Given the description of an element on the screen output the (x, y) to click on. 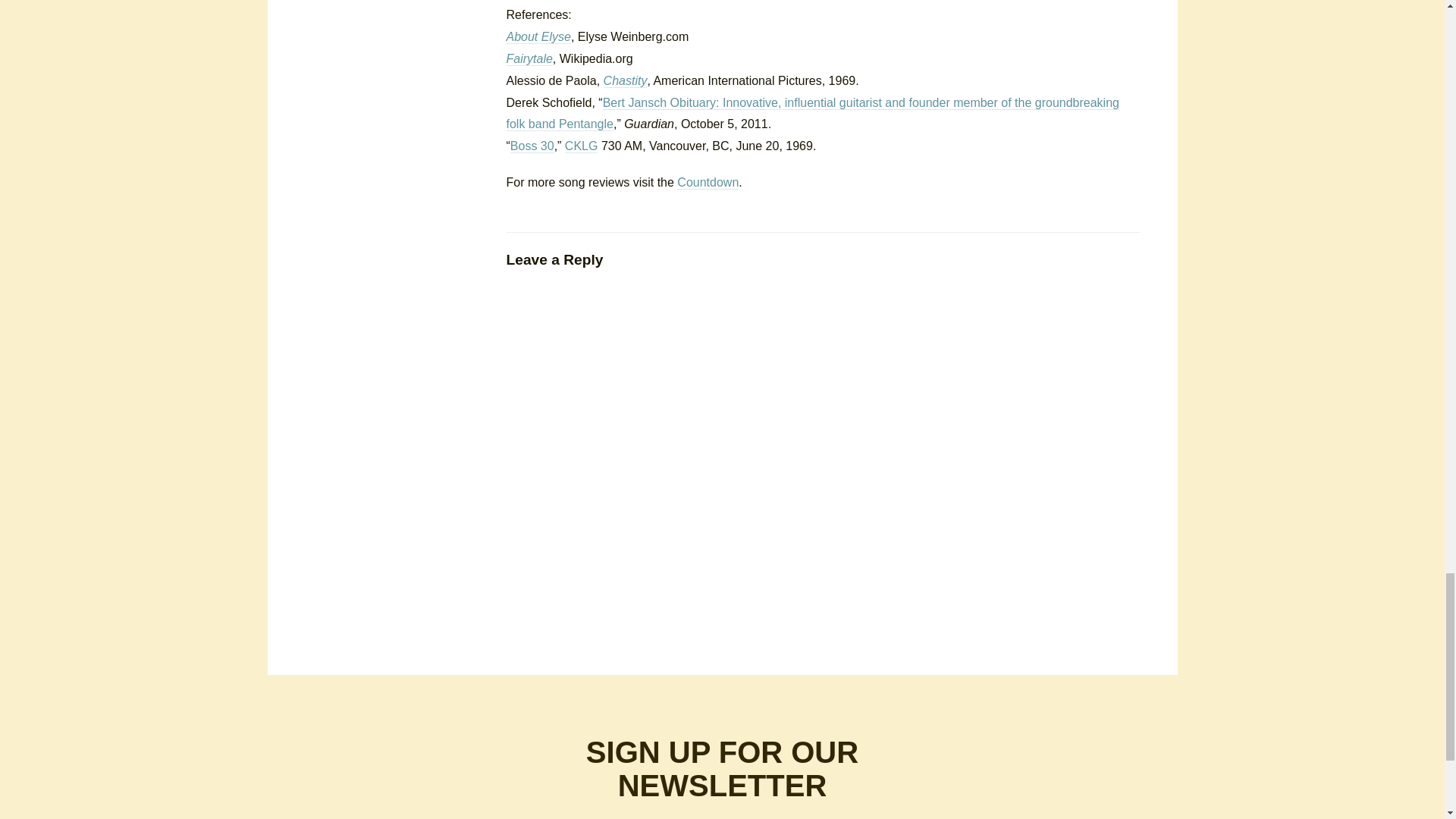
CKLG (581, 146)
About Elyse (538, 37)
Chastity (625, 80)
Boss 30 (532, 146)
Countdown (707, 182)
Fairytale (529, 59)
